Given the description of an element on the screen output the (x, y) to click on. 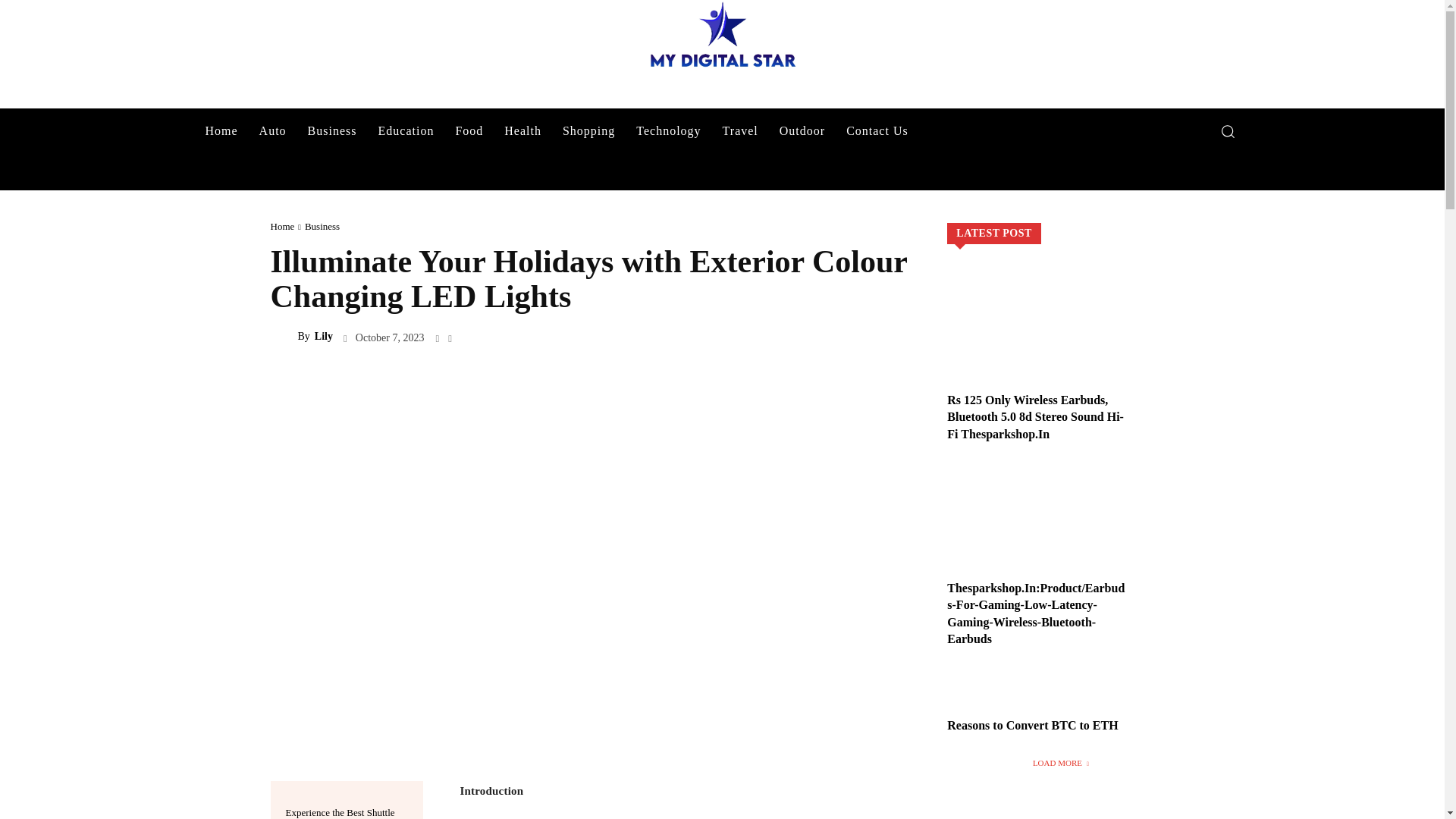
Lily (283, 336)
Shopping (588, 130)
Experience the Best Shuttle Service from Denver to Red Rocks (340, 812)
Technology (668, 130)
Business (332, 130)
Food (468, 130)
Travel (739, 130)
Auto (272, 130)
Contact Us (876, 130)
Home (220, 130)
Health (522, 130)
Education (406, 130)
View all posts in Business (321, 225)
